Given the description of an element on the screen output the (x, y) to click on. 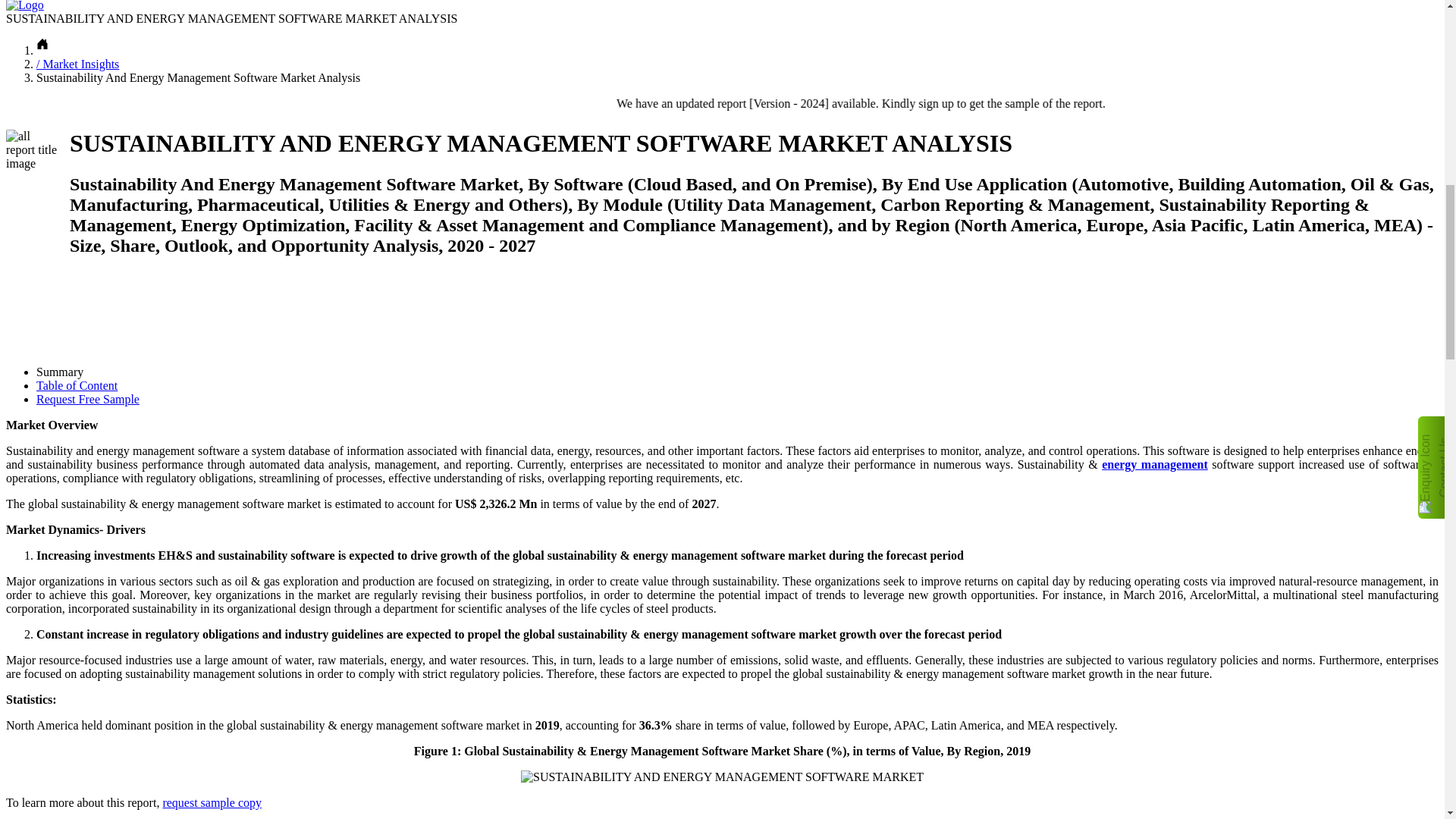
SUSTAINABILITY AND ENERGY MANAGEMENT SOFTWARE MARKET (722, 776)
Logo (24, 6)
Market Insights (77, 63)
